Given the description of an element on the screen output the (x, y) to click on. 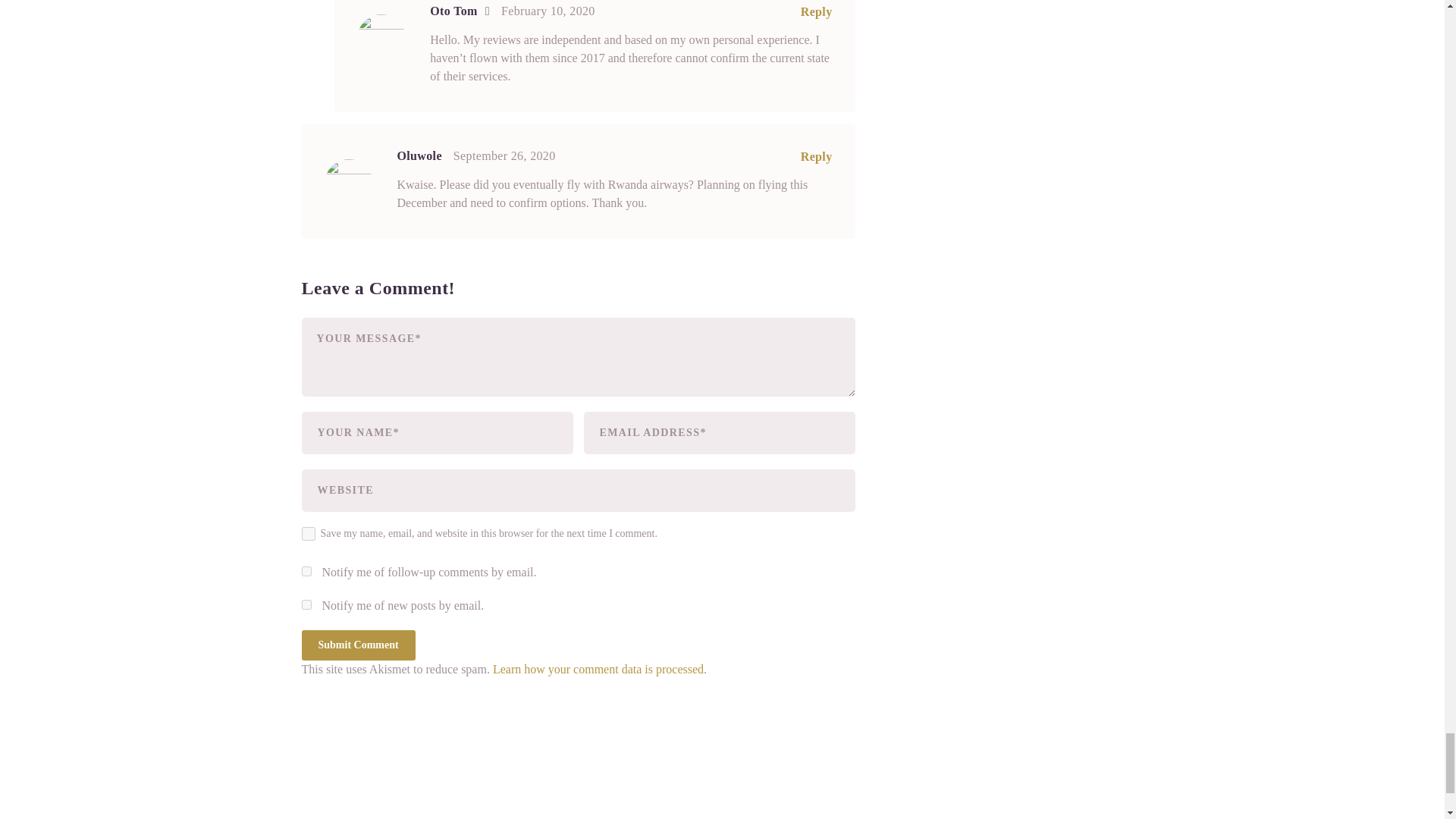
subscribe (306, 571)
Submit Comment (357, 644)
subscribe (306, 604)
yes (308, 533)
